Given the description of an element on the screen output the (x, y) to click on. 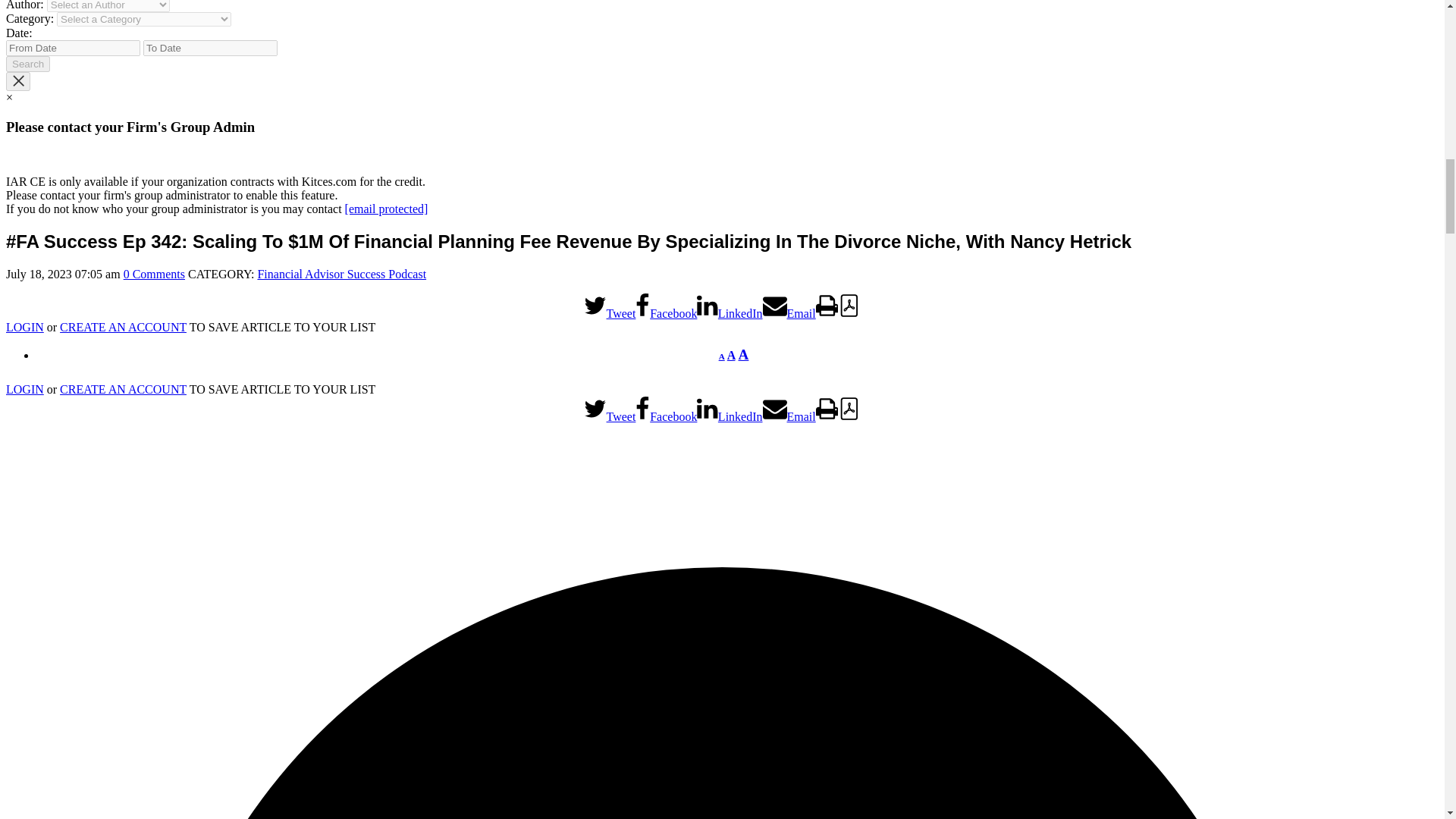
Share on Twitter (609, 307)
Share on Twitter (609, 410)
Share on LinkedIn (729, 307)
Email (788, 410)
Email (788, 307)
Share on Facebook (665, 307)
Share via Email (788, 307)
Share on Facebook (665, 410)
